Given the description of an element on the screen output the (x, y) to click on. 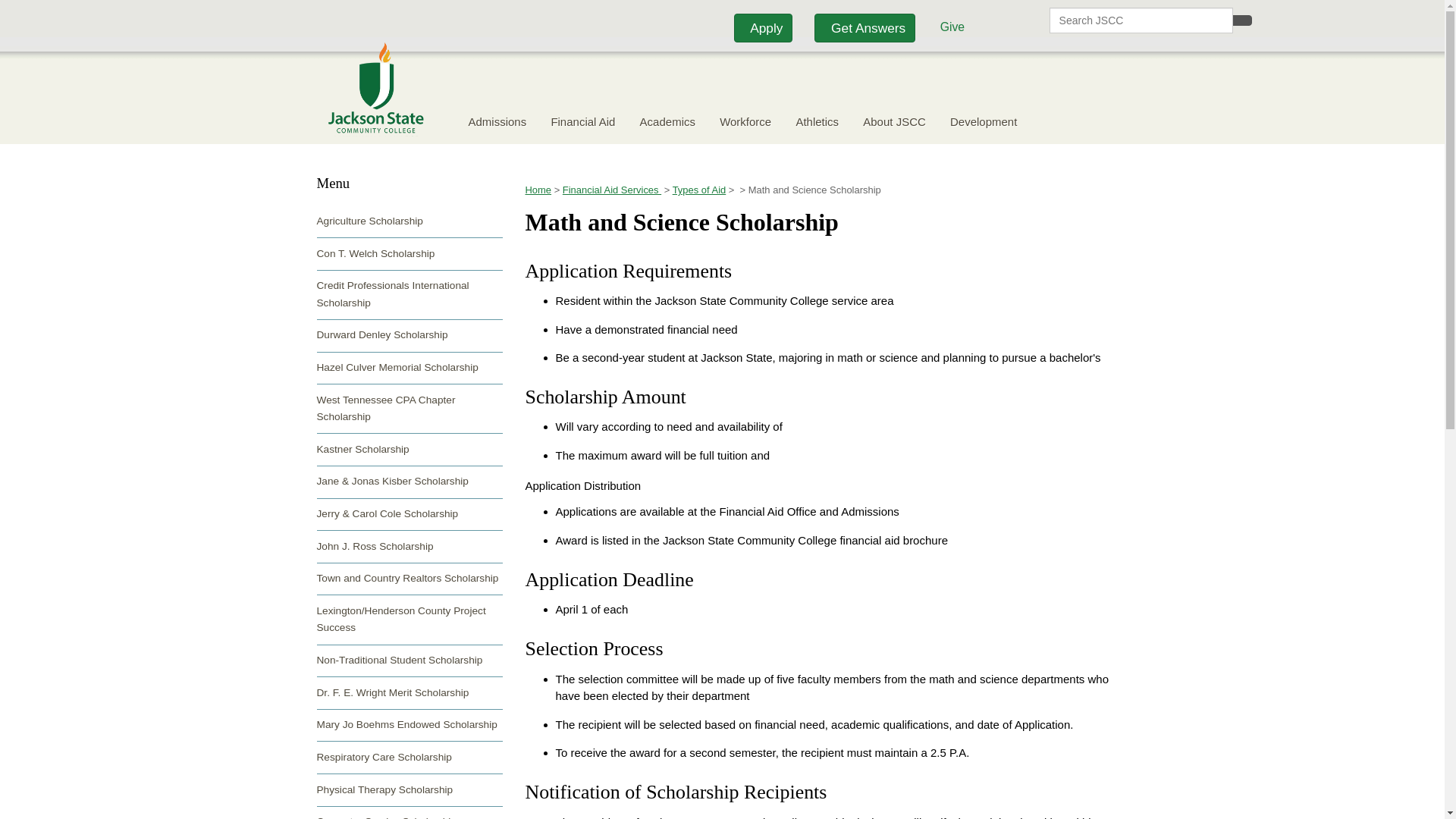
  Get Answers (864, 28)
 Give (949, 26)
  Get Answers (865, 26)
  Apply (764, 26)
Financial Aid (583, 121)
Admissions (497, 121)
Search JSCC (1141, 20)
  Apply (763, 28)
Search (1241, 20)
Academics (667, 121)
